Given the description of an element on the screen output the (x, y) to click on. 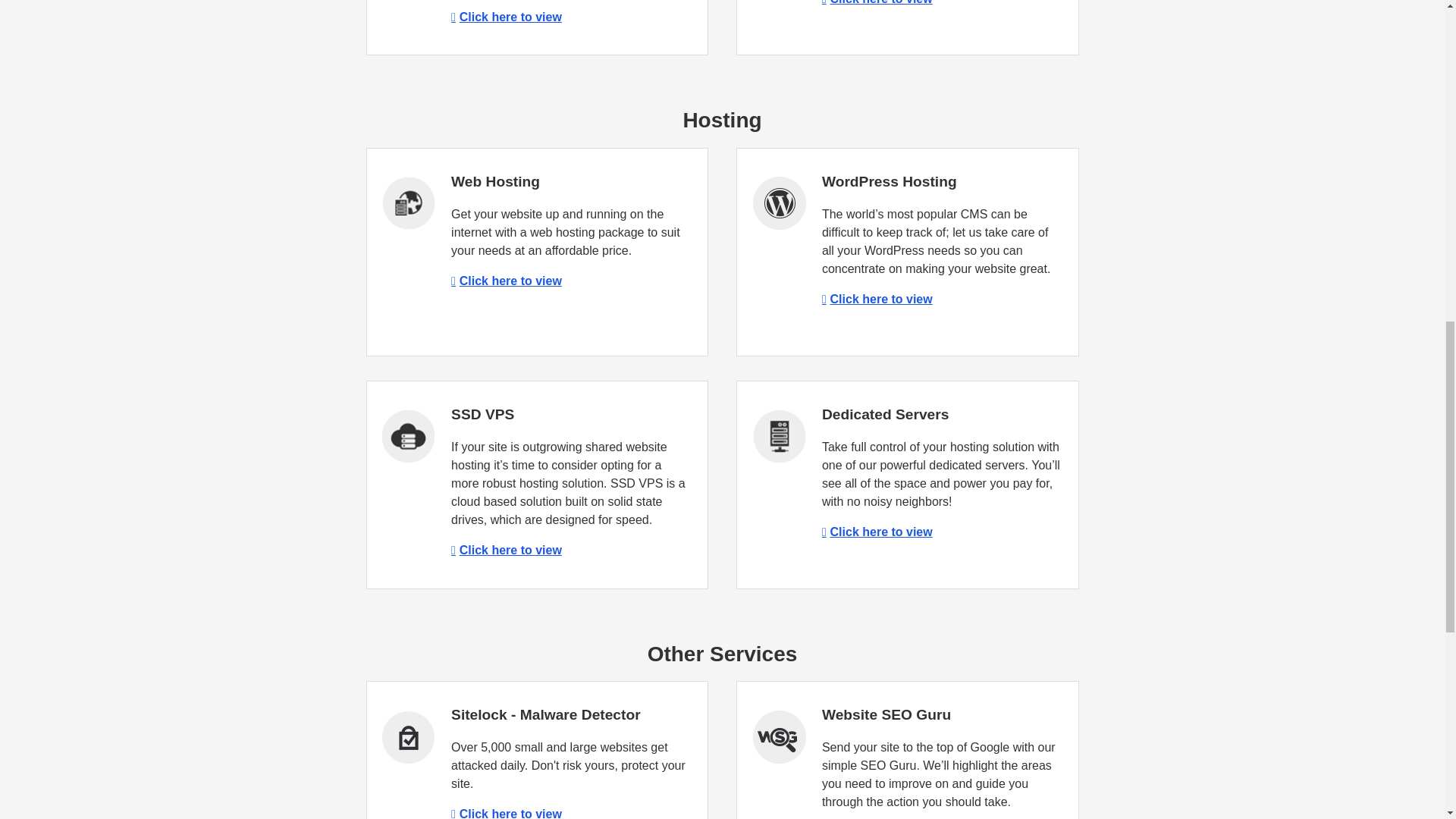
Click here to view (877, 531)
Click here to view (506, 16)
Click here to view (877, 298)
Click here to view (506, 280)
Click here to view (506, 813)
Click here to view (506, 549)
Click here to view (877, 2)
